Given the description of an element on the screen output the (x, y) to click on. 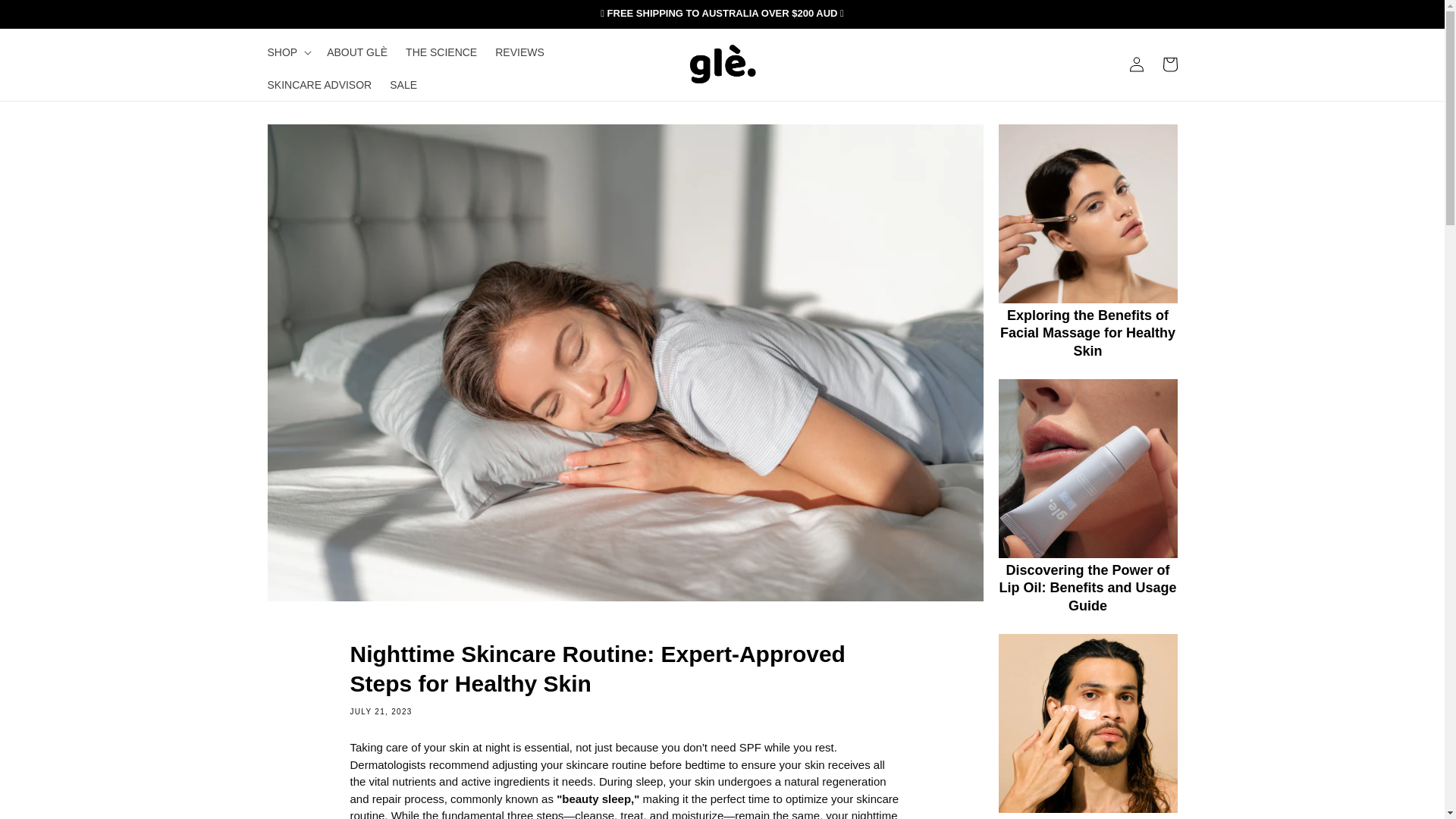
THE SCIENCE (441, 51)
Log in (1136, 64)
Cart (1169, 64)
REVIEWS (519, 51)
SALE (403, 84)
SKINCARE ADVISOR (318, 84)
Skip to content (45, 16)
